Given the description of an element on the screen output the (x, y) to click on. 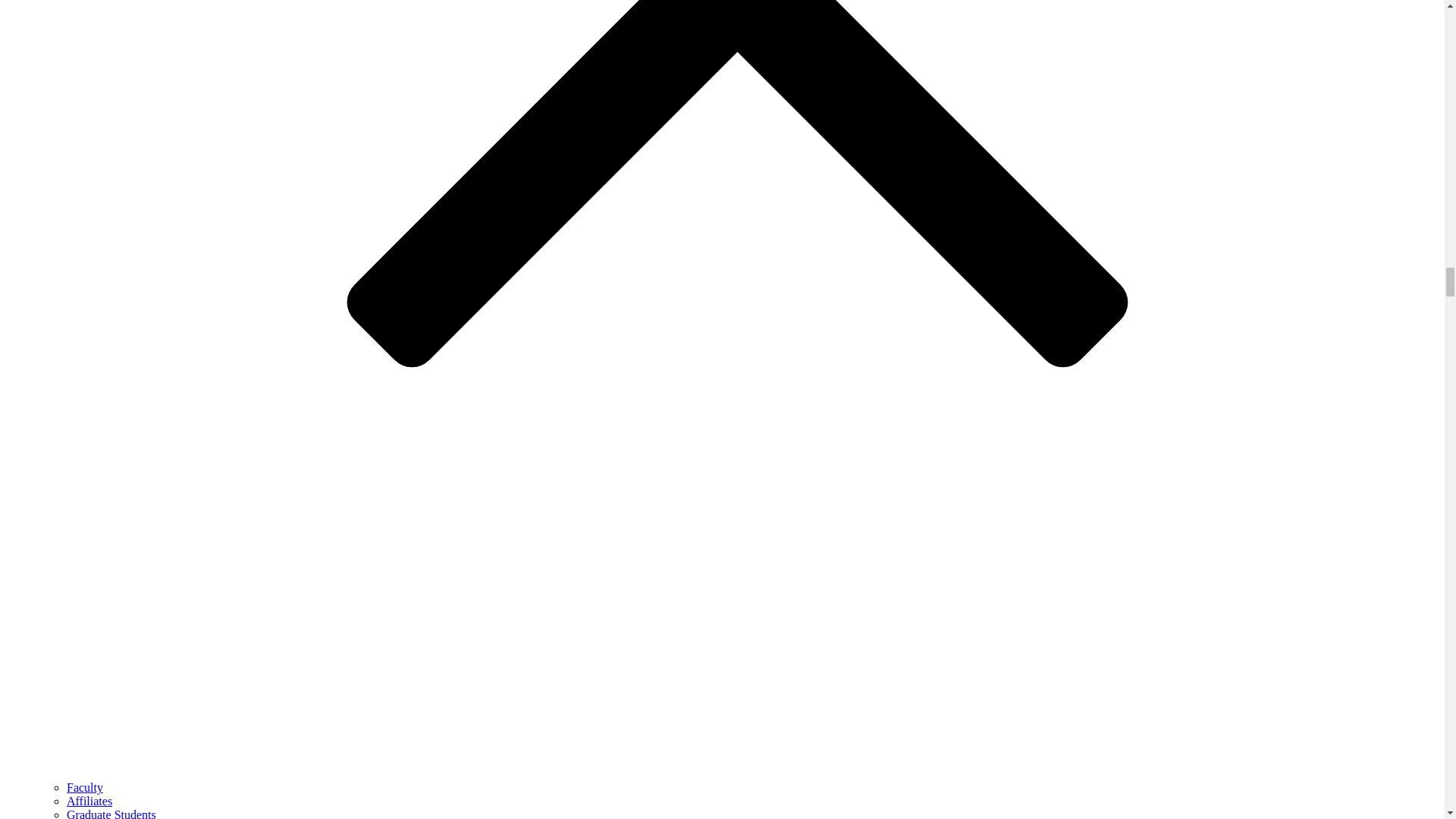
Affiliates (89, 800)
Faculty (84, 787)
Graduate Students (110, 813)
